Given the description of an element on the screen output the (x, y) to click on. 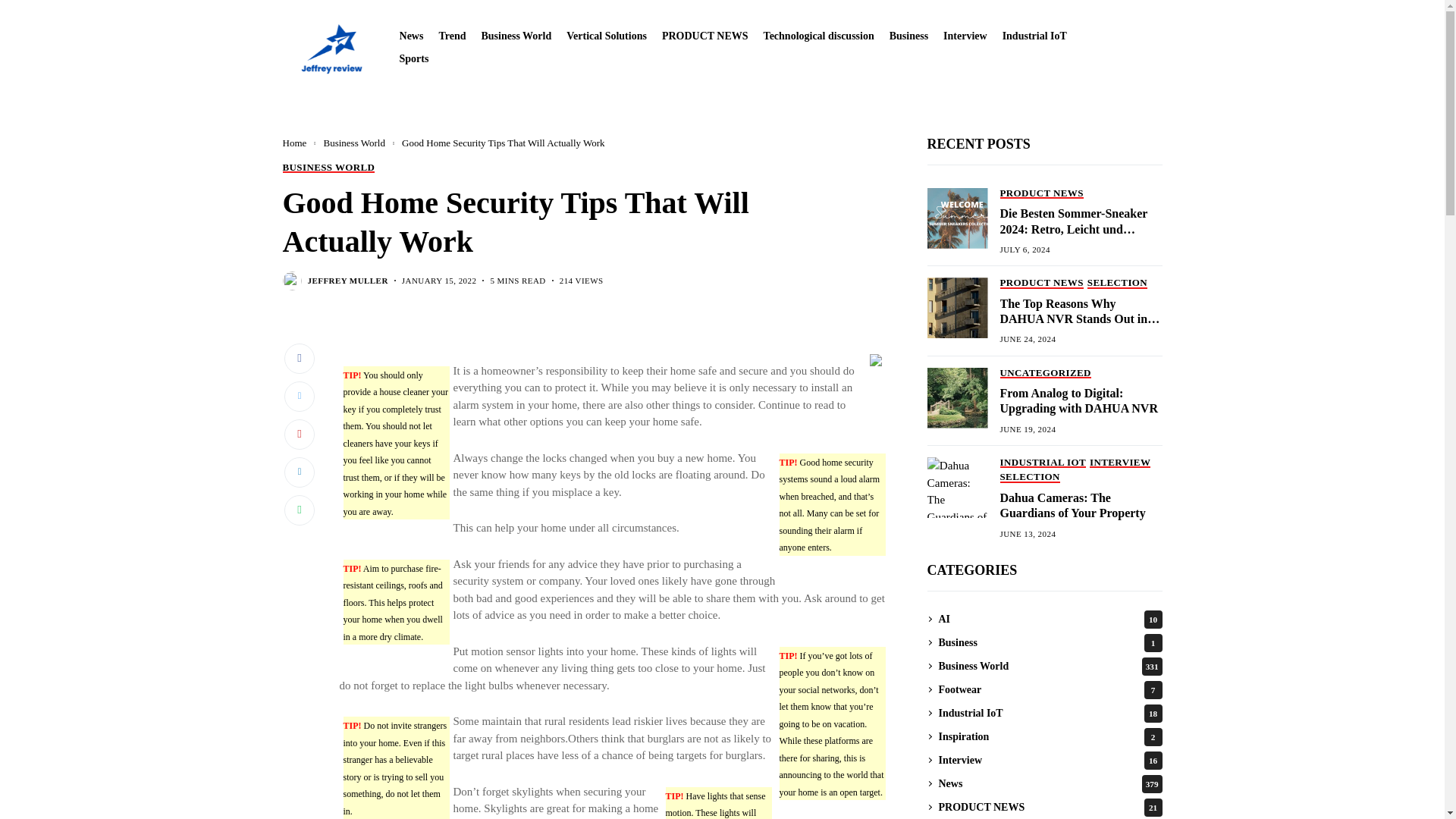
Interview (965, 35)
Technological discussion (818, 35)
Vertical Solutions (606, 35)
Dahua Cameras: The Guardians of Your Property (956, 487)
From Analog to Digital: Upgrading with DAHUA NVR (956, 396)
Business World (515, 35)
Posts by Jeffrey Muller (347, 280)
PRODUCT NEWS (705, 35)
Business (908, 35)
Die Besten Sommer-Sneaker 2024: Retro, Leicht und Stilvoll (956, 217)
Industrial IoT (1035, 35)
The Top Reasons Why DAHUA NVR Stands Out in the Market (956, 307)
Trend (451, 35)
Sports (413, 58)
News (410, 35)
